Given the description of an element on the screen output the (x, y) to click on. 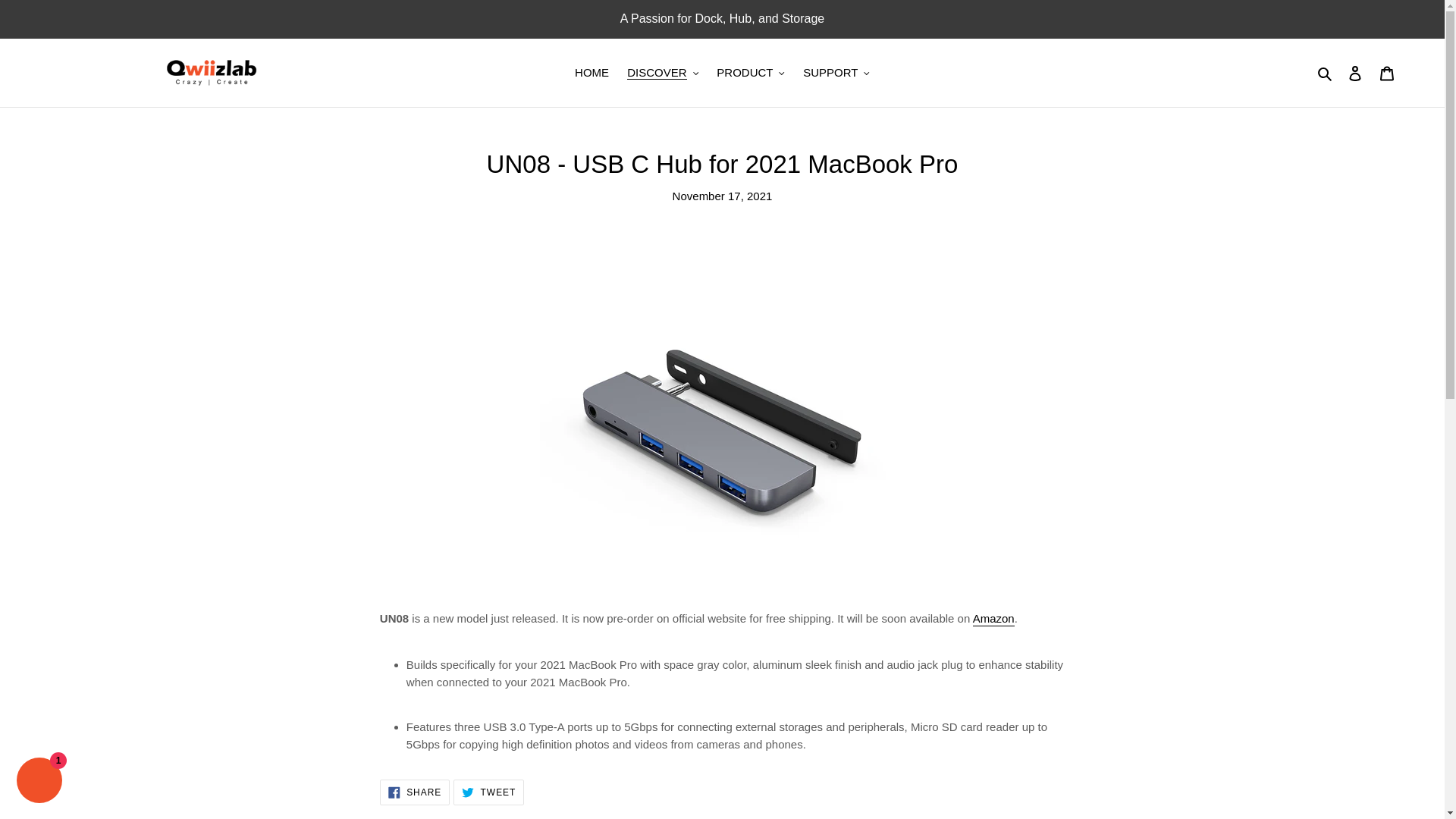
Search (1326, 72)
Shopify online store chat (38, 781)
HOME (591, 73)
Cart (1387, 72)
PRODUCT (750, 73)
Log in (1355, 72)
A Passion for Dock, Hub, and Storage (721, 18)
SUPPORT (835, 73)
DISCOVER (663, 73)
